Given the description of an element on the screen output the (x, y) to click on. 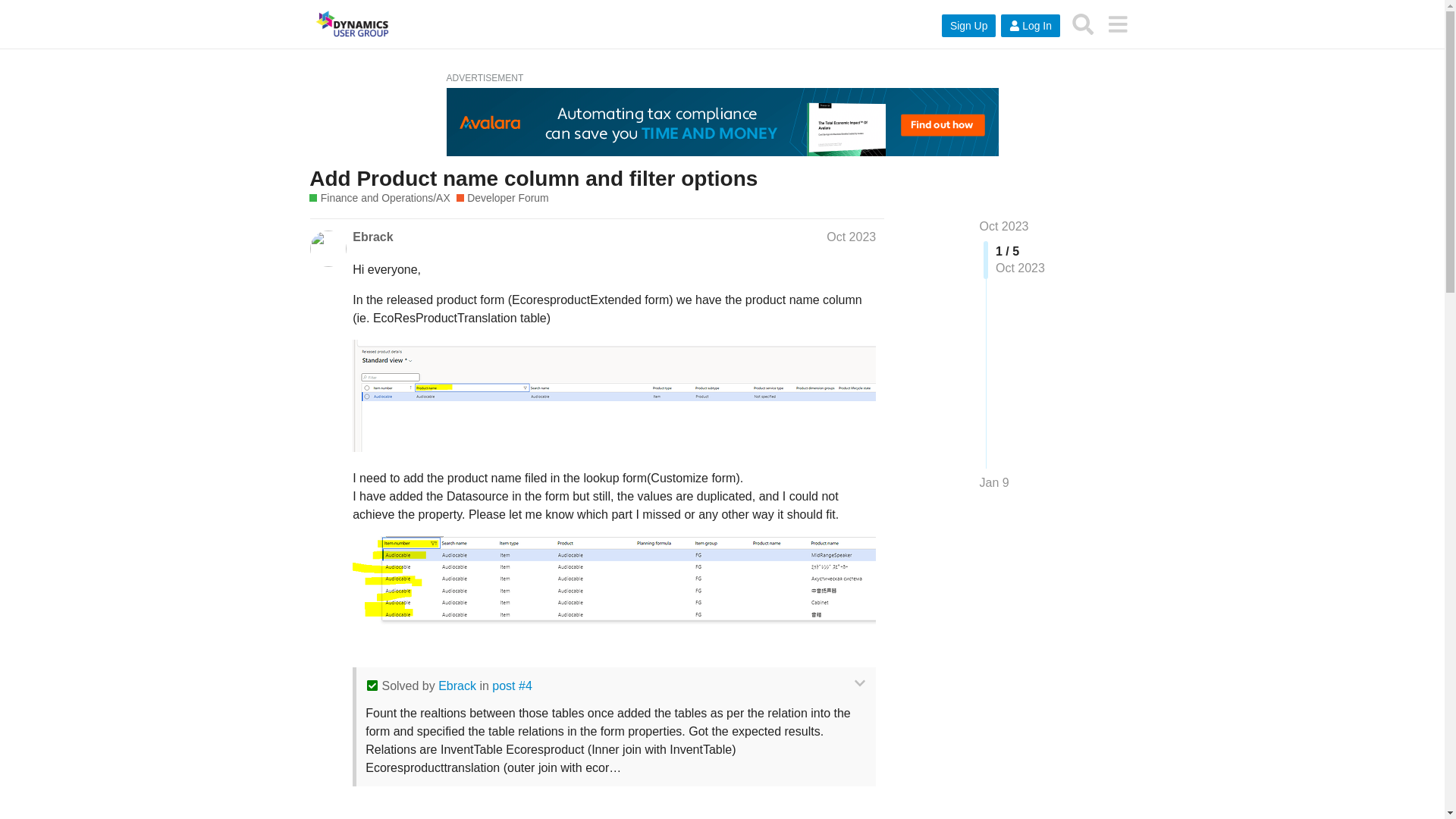
copy a link to this post to clipboard (869, 817)
Developer Forum (502, 197)
Product name (614, 585)
Jan 9 (994, 483)
Log In (1030, 25)
Oct 2023 (851, 236)
Add Product name column and filter options (532, 178)
Post date (851, 236)
Sign Up (968, 25)
Ebrack (457, 685)
